Given the description of an element on the screen output the (x, y) to click on. 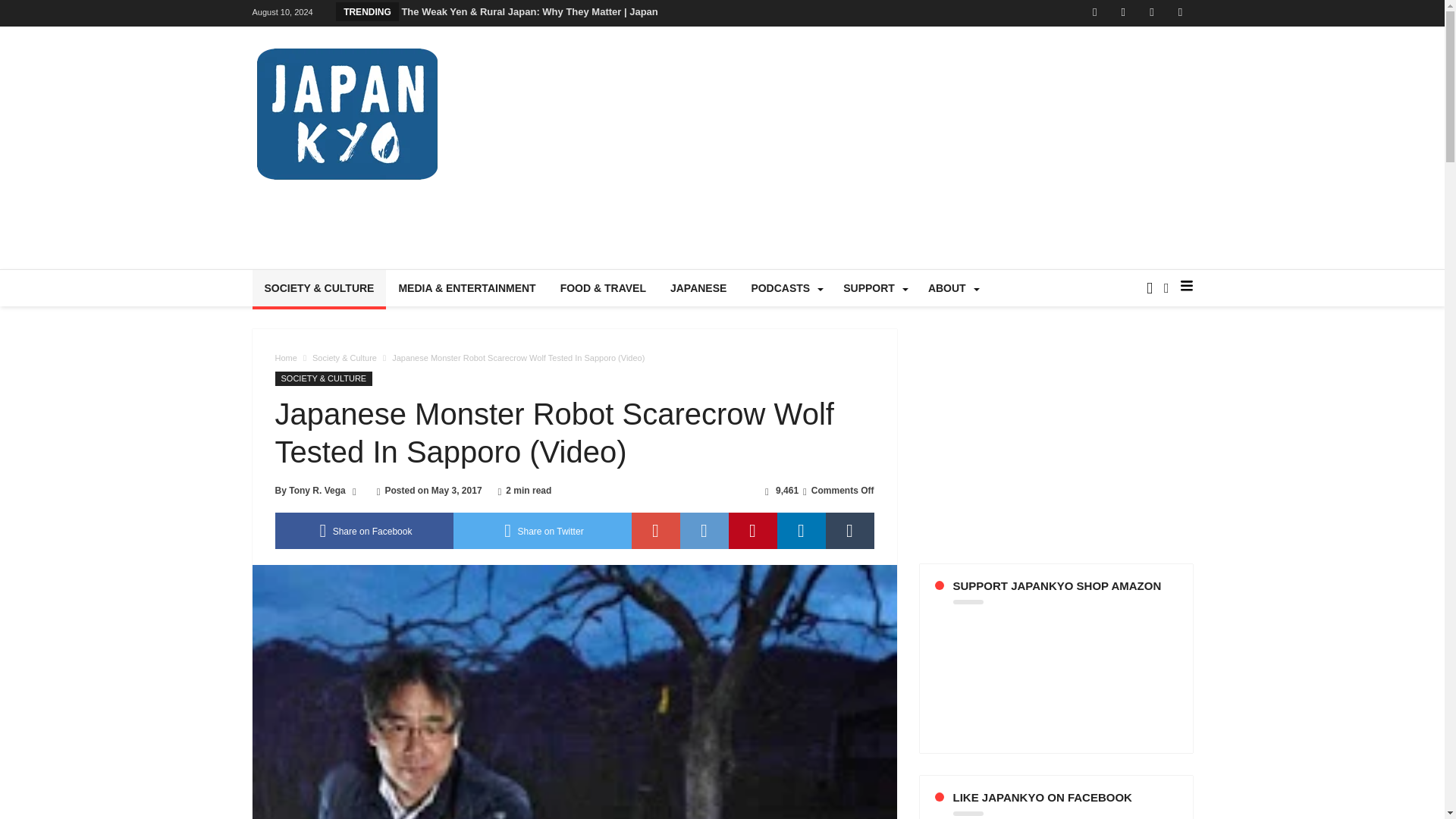
Youtube (1151, 13)
Facebook (1094, 13)
JAPANESE (698, 288)
PODCASTS (784, 288)
Apple (1179, 13)
Twitter (1122, 13)
